Given the description of an element on the screen output the (x, y) to click on. 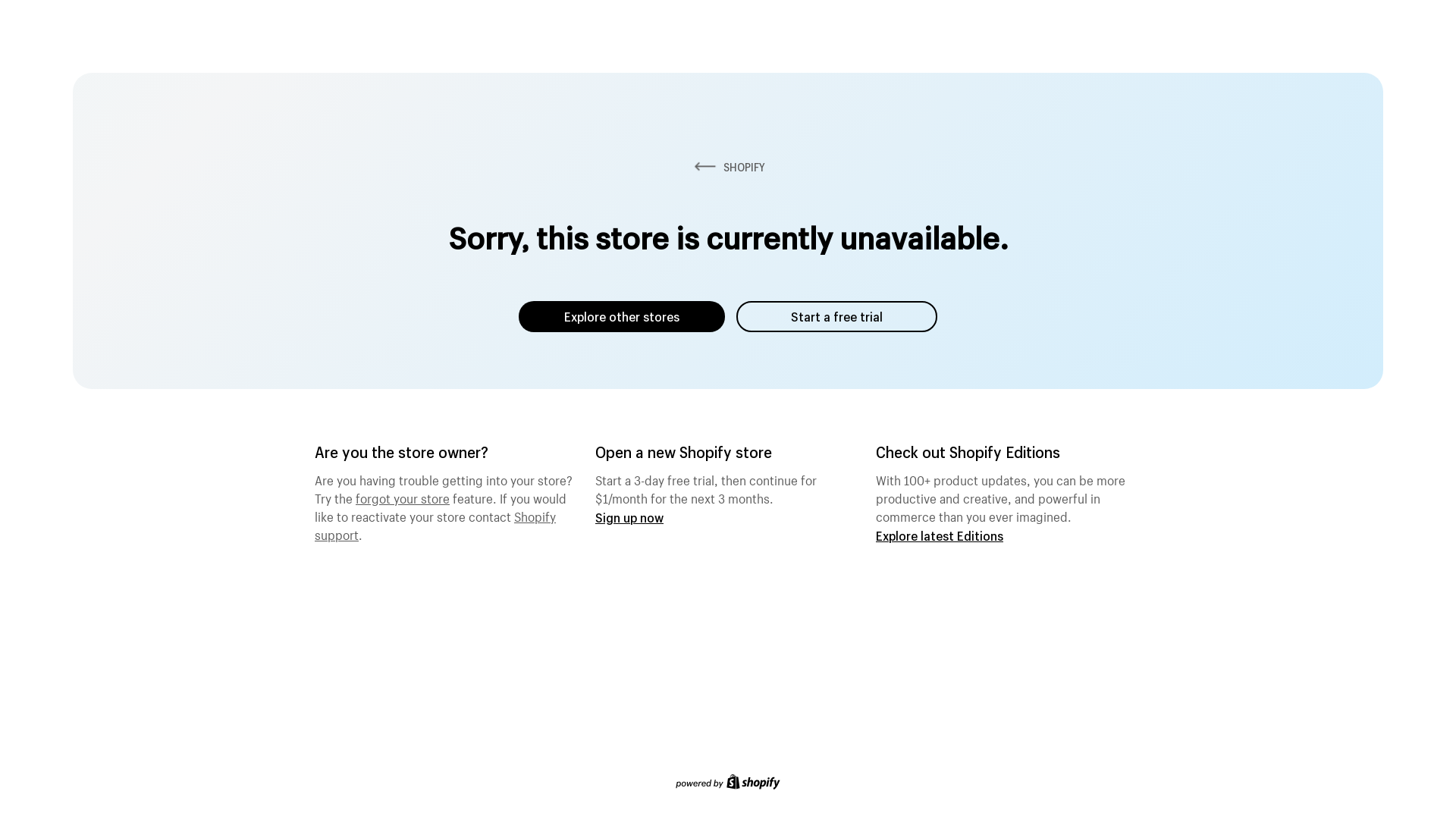
Shopify support Element type: text (434, 523)
Explore latest Editions Element type: text (939, 535)
Sign up now Element type: text (629, 517)
Explore other stores Element type: text (621, 316)
SHOPIFY Element type: text (727, 167)
Start a free trial Element type: text (836, 316)
forgot your store Element type: text (402, 496)
